Given the description of an element on the screen output the (x, y) to click on. 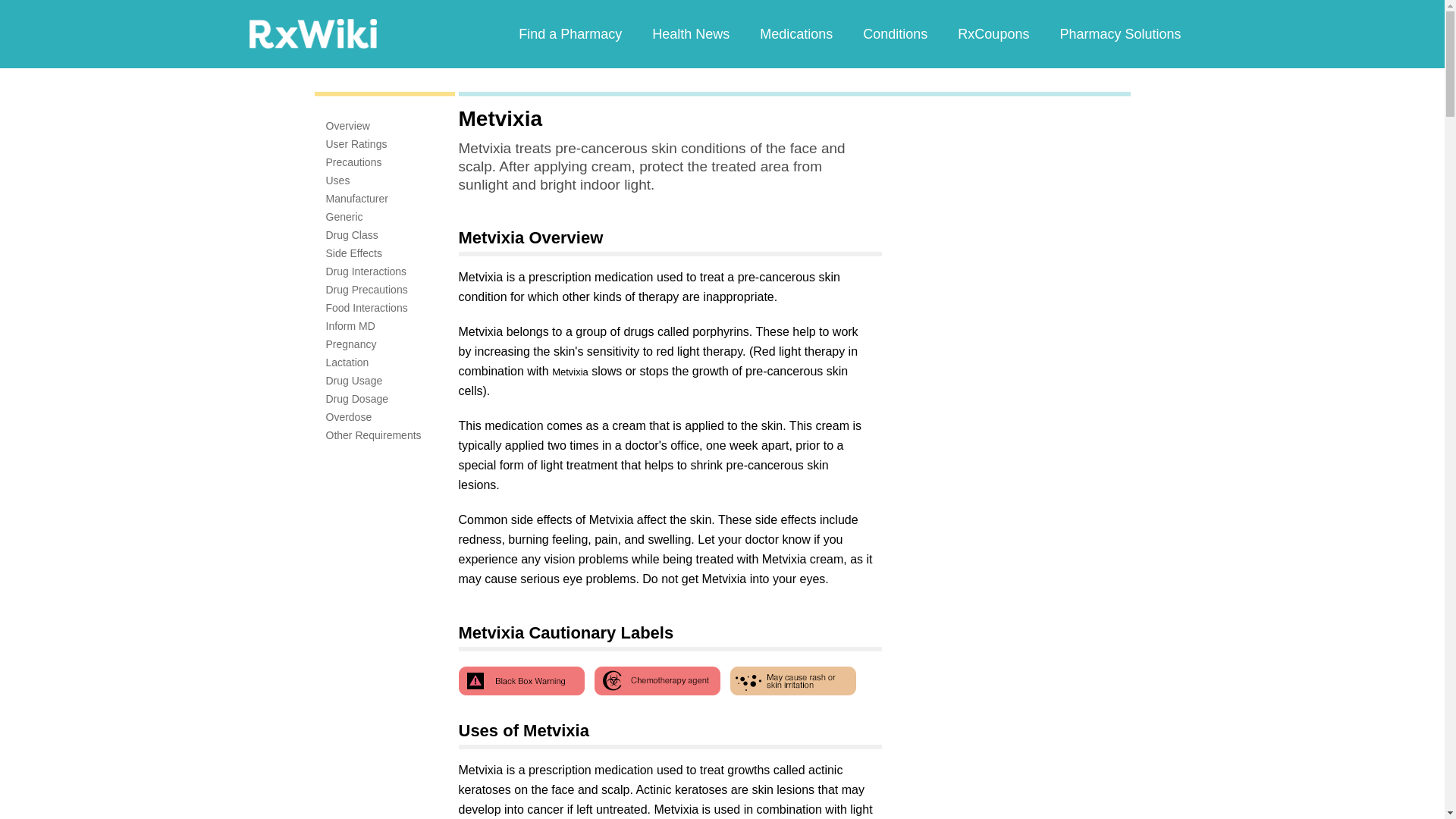
User Ratings (356, 143)
Other Requirements (374, 435)
Medications (795, 33)
Precautions (353, 162)
Drug Dosage (357, 398)
Drug Interactions (366, 271)
Generic (344, 216)
Drug Usage (354, 380)
RxWiki (312, 32)
Health News (690, 33)
